Given the description of an element on the screen output the (x, y) to click on. 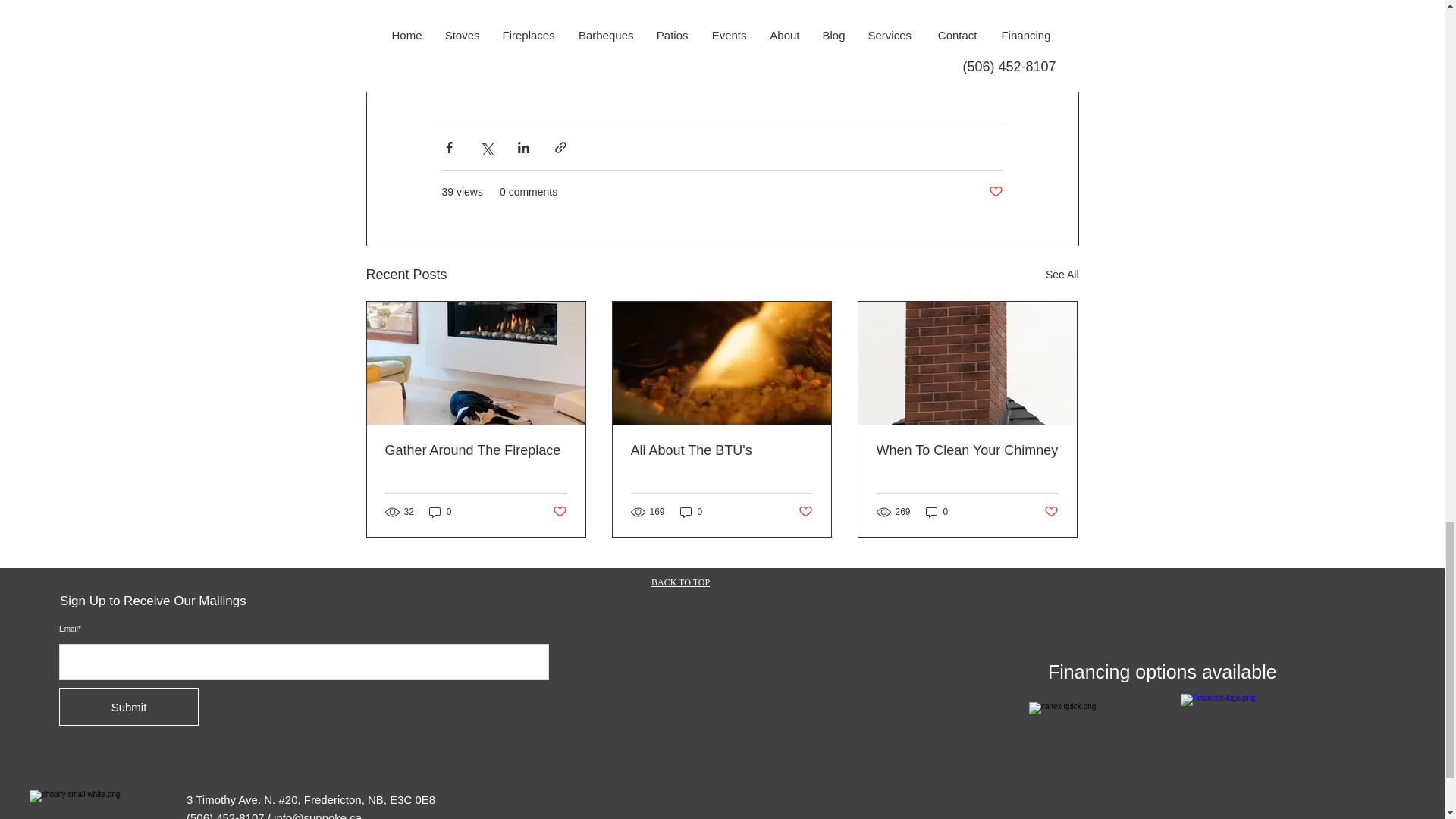
Post not marked as liked (995, 191)
See All (1061, 274)
Gather Around The Fireplace (476, 450)
